Given the description of an element on the screen output the (x, y) to click on. 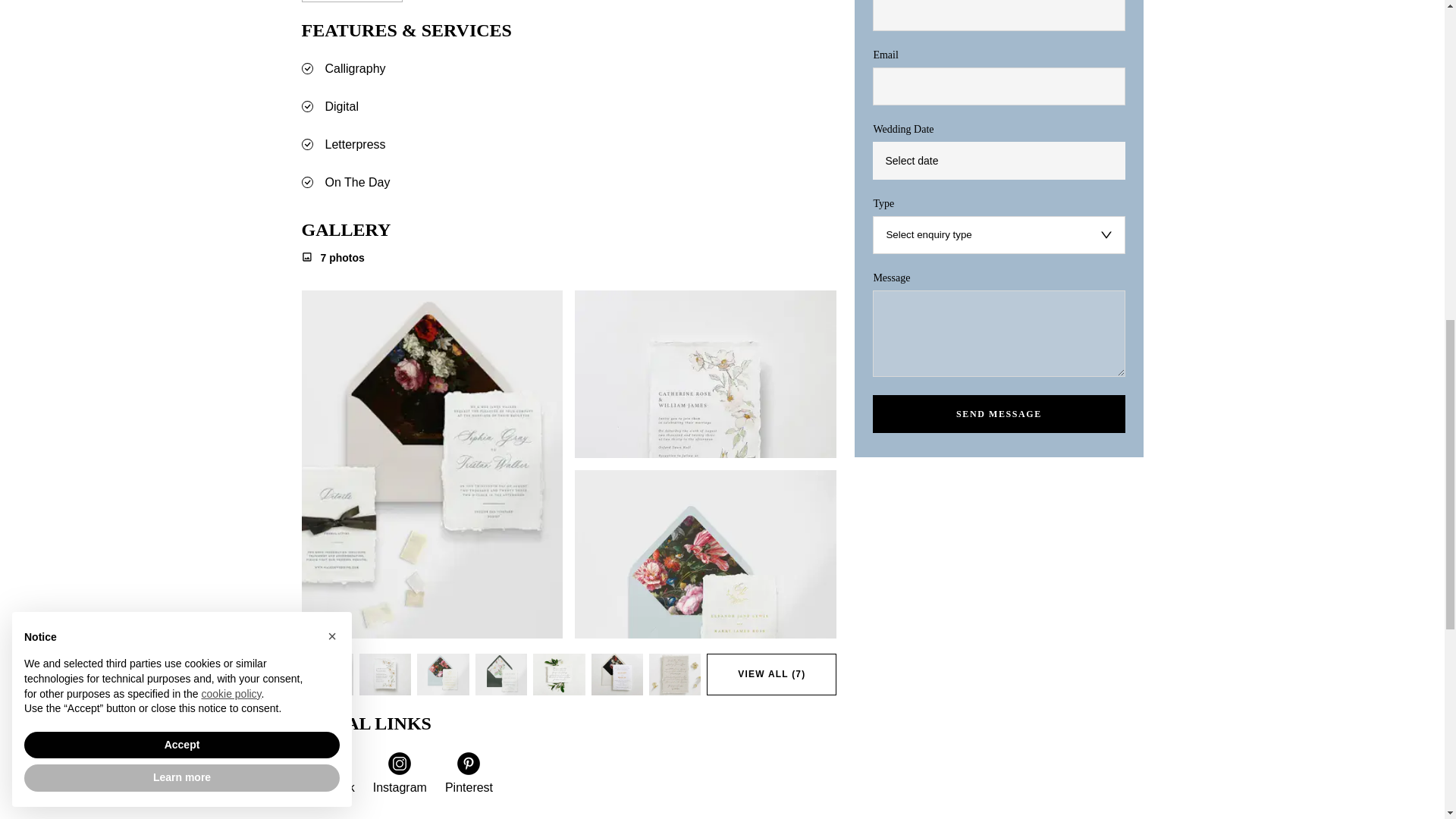
VIEW WEBSITE (352, 1)
Facebook (328, 773)
Instagram (399, 773)
Select date (998, 160)
Pinterest (469, 773)
